Given the description of an element on the screen output the (x, y) to click on. 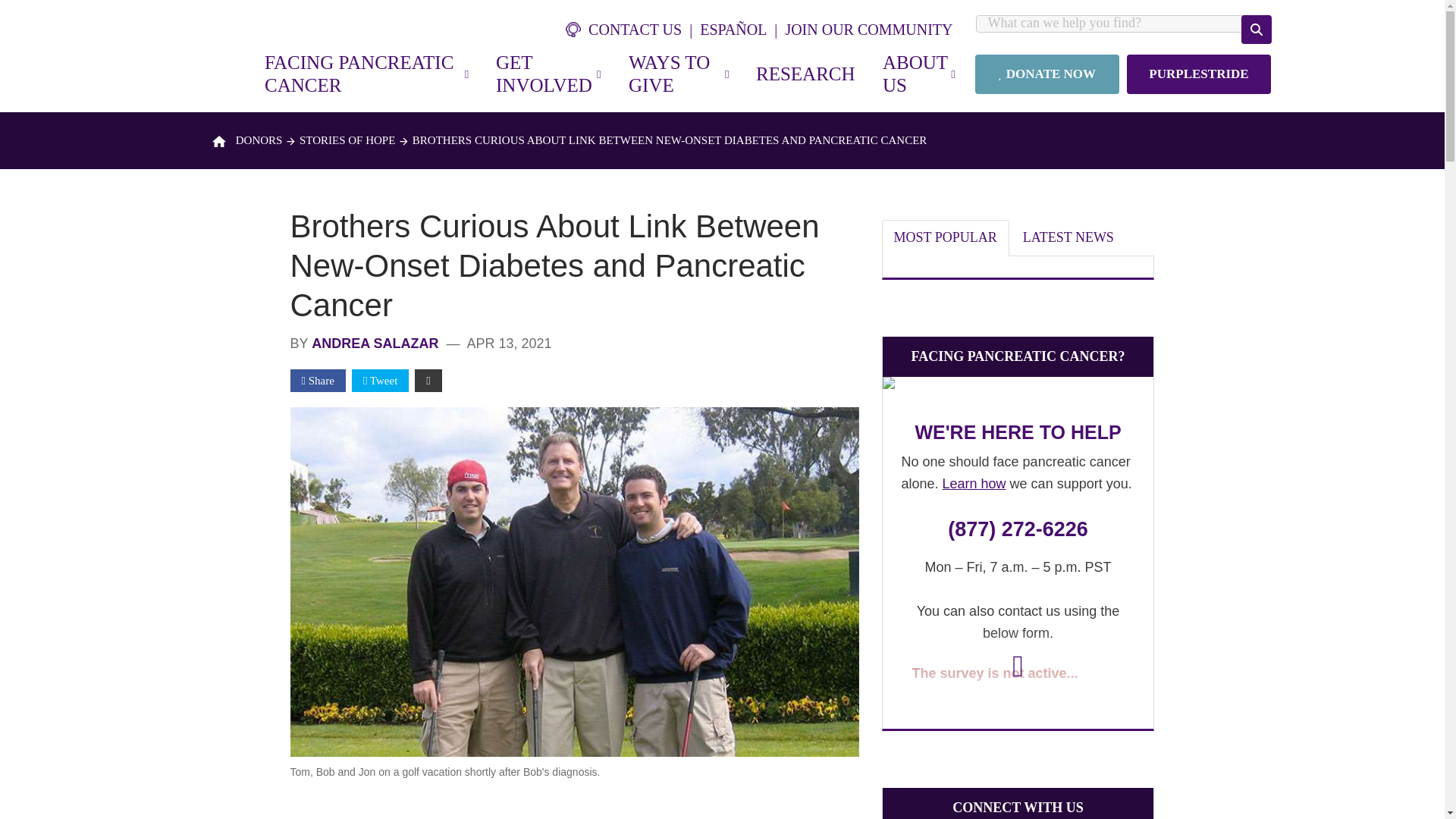
GET INVOLVED  (547, 74)
  CONTACT US (633, 29)
JOIN OUR COMMUNITY (868, 29)
Call Us, 877- 272-6226 (1017, 528)
WAYS TO GIVE  (678, 74)
Patient Services Case Manager (1018, 387)
FACING PANCREATIC CANCER  (366, 74)
